Given the description of an element on the screen output the (x, y) to click on. 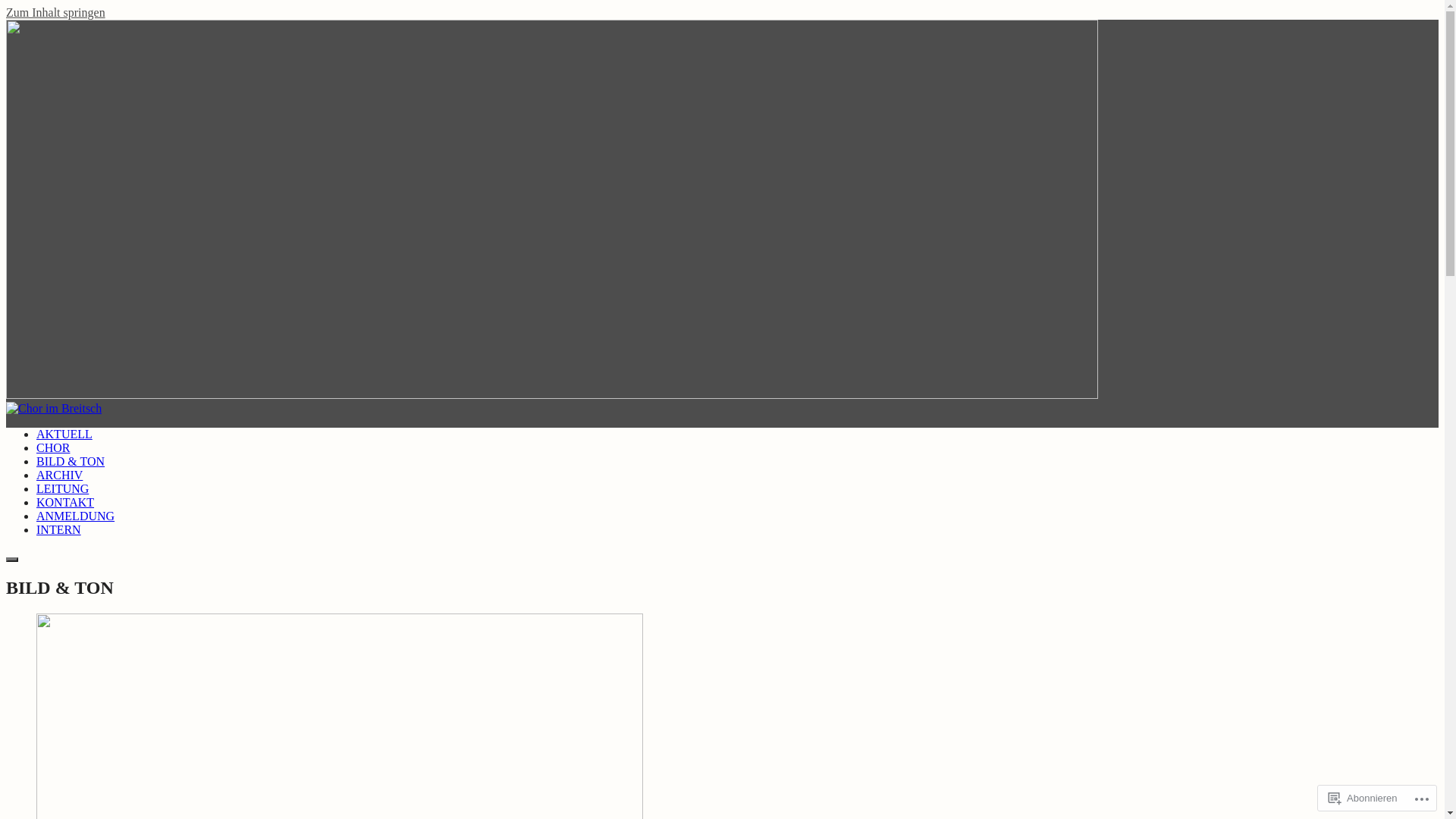
Chor im Breitsch Element type: text (26, 447)
KONTAKT Element type: text (65, 501)
LEITUNG Element type: text (62, 488)
CHOR Element type: text (52, 447)
Zum Inhalt springen Element type: text (55, 12)
ARCHIV Element type: text (59, 474)
BILD & TON Element type: text (70, 461)
AKTUELL Element type: text (64, 433)
ANMELDUNG Element type: text (75, 515)
Abonnieren Element type: text (1362, 797)
INTERN Element type: text (58, 529)
